Given the description of an element on the screen output the (x, y) to click on. 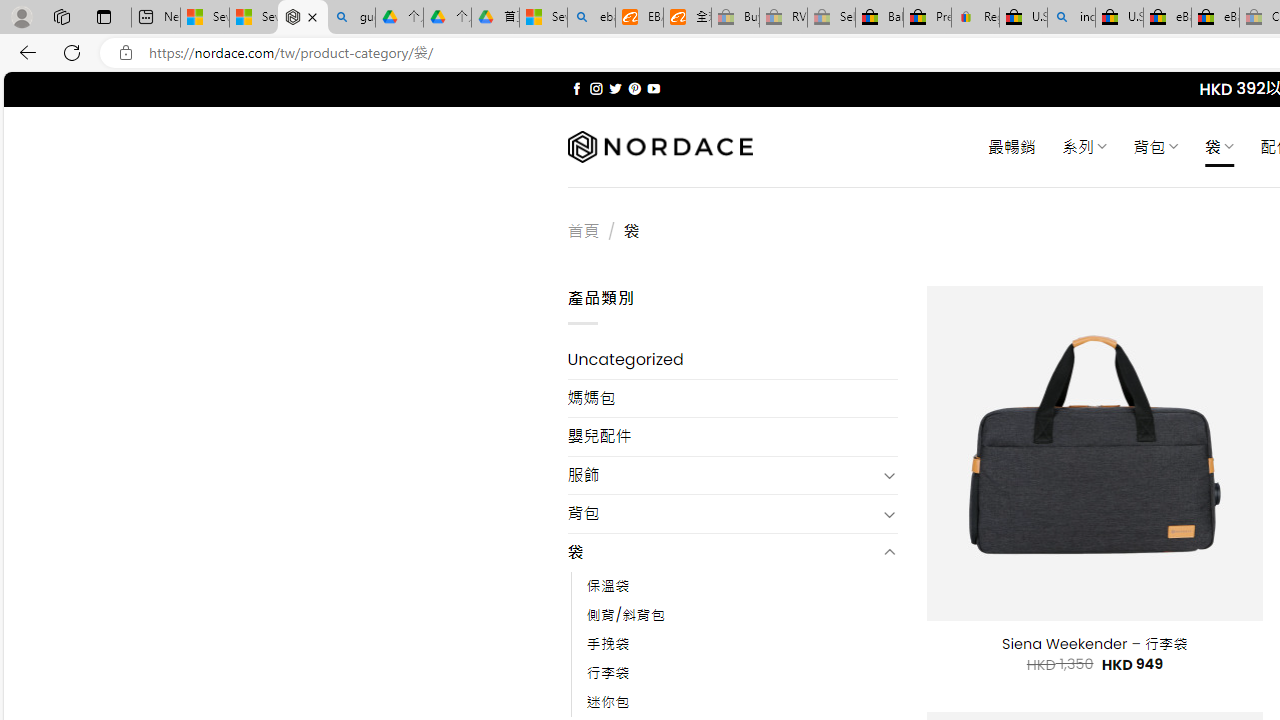
including - Search (1071, 17)
Register: Create a personal eBay account (975, 17)
Refresh (72, 52)
Tab actions menu (104, 16)
Follow on Twitter (615, 88)
guge yunpan - Search (351, 17)
Baby Keepsakes & Announcements for sale | eBay (879, 17)
Follow on YouTube (653, 88)
